Given the description of an element on the screen output the (x, y) to click on. 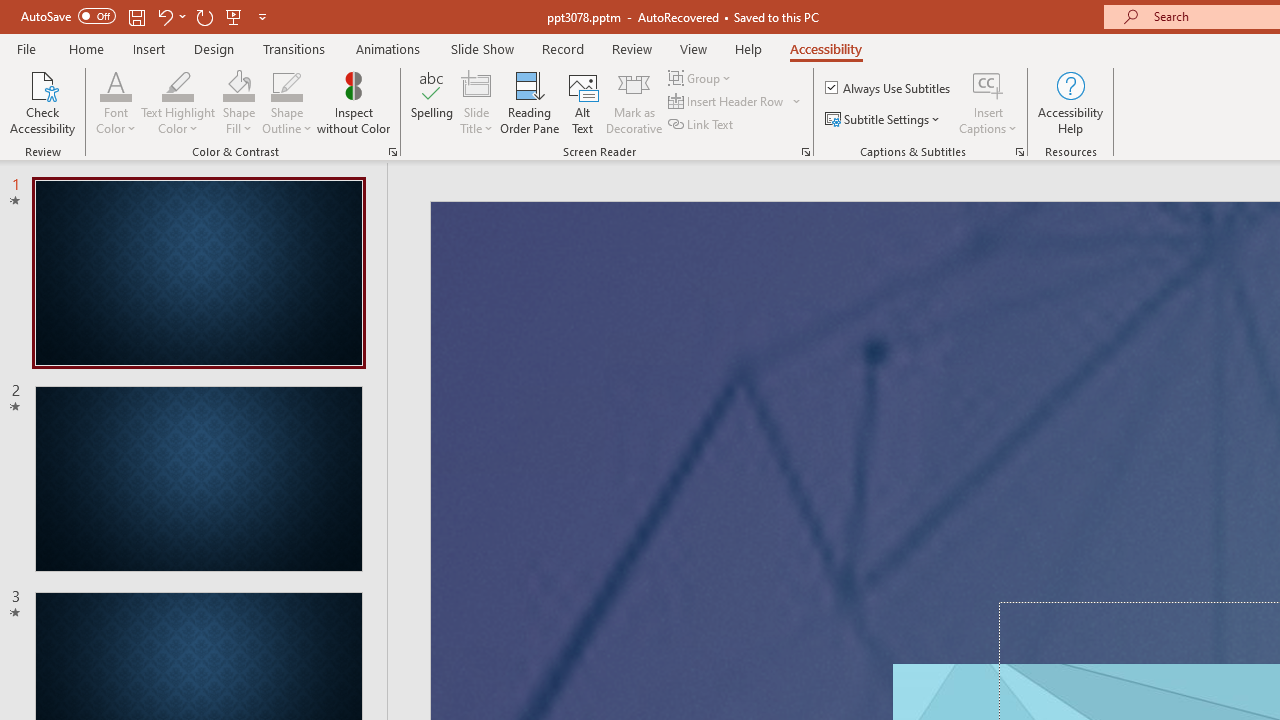
Slide Title (476, 102)
Inspect without Color (353, 102)
Accessibility Help (1070, 102)
Insert Header Row (727, 101)
Reading Order Pane (529, 102)
Captions & Subtitles (1019, 151)
Slide Title (476, 84)
